Given the description of an element on the screen output the (x, y) to click on. 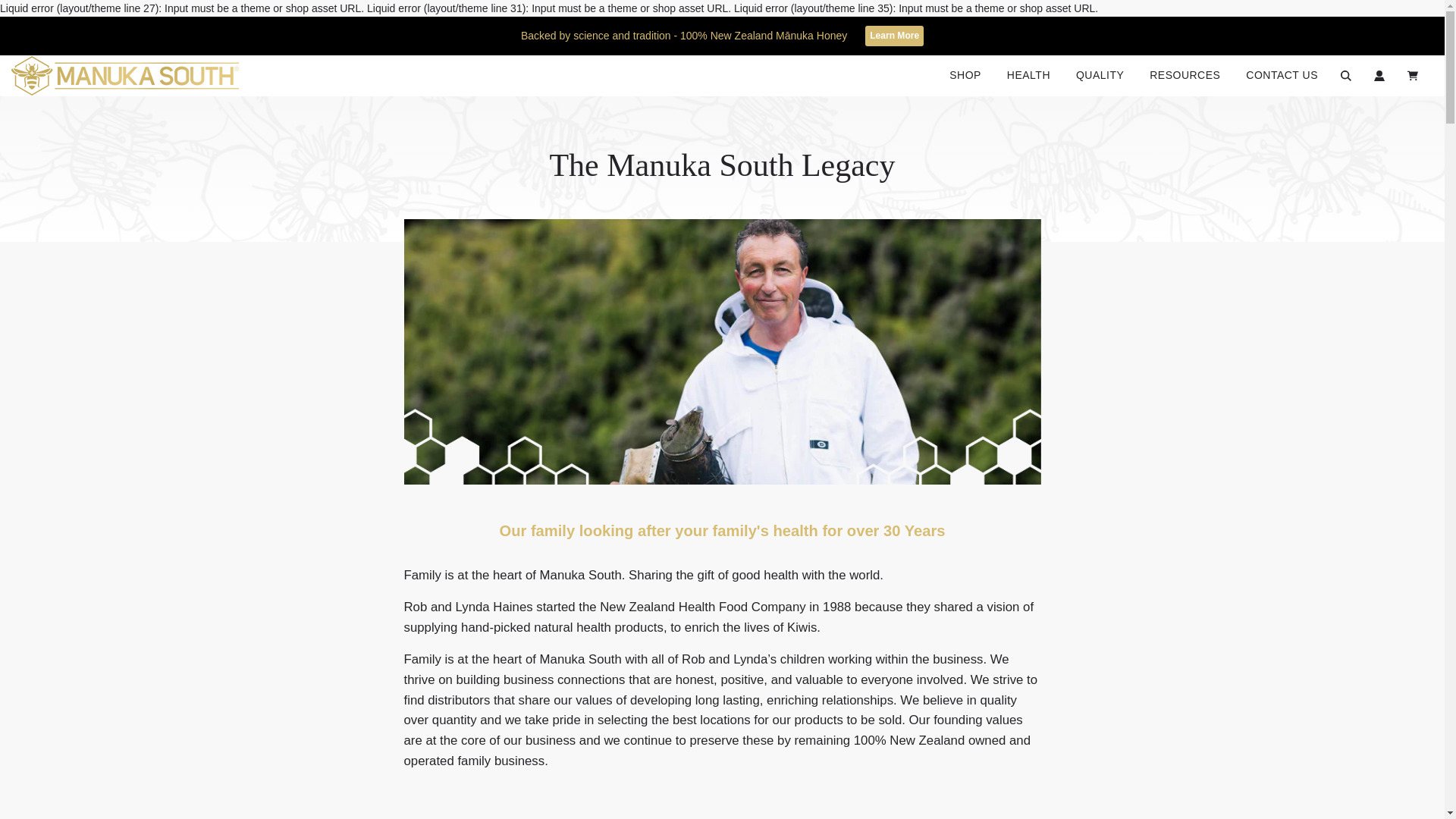
Log in (1379, 75)
Learn More (893, 35)
